Given the description of an element on the screen output the (x, y) to click on. 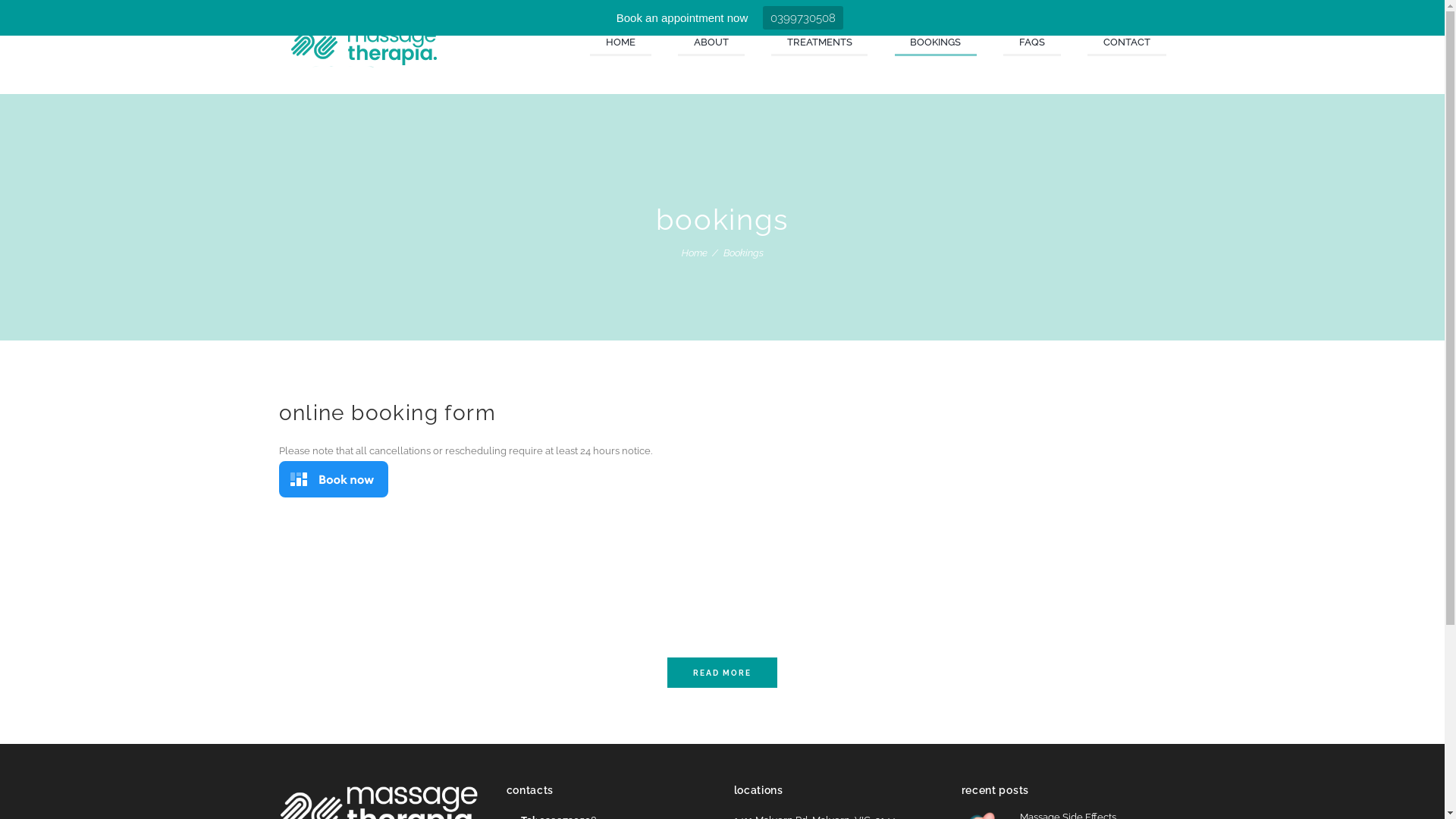
FAQS Element type: text (1031, 43)
ABOUT Element type: text (710, 43)
CONTACT Element type: text (1126, 43)
HOME Element type: text (620, 43)
0399730508 Element type: text (802, 17)
READ MORE Element type: text (722, 672)
Home Element type: text (693, 253)
BOOKINGS Element type: text (935, 43)
TREATMENTS Element type: text (819, 43)
